Given the description of an element on the screen output the (x, y) to click on. 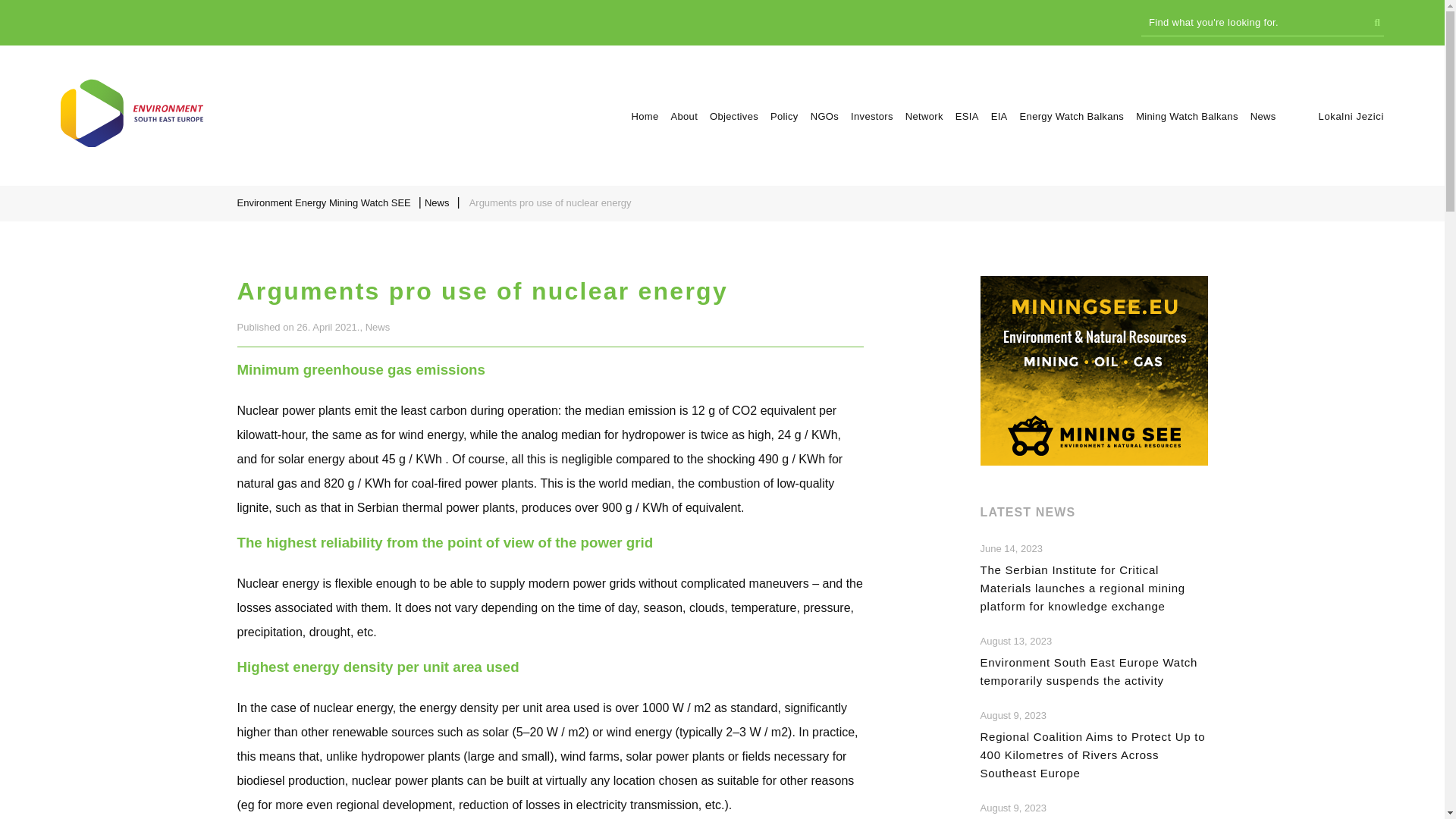
ESIA (966, 116)
Investors (871, 116)
Energy Watch Balkans (1072, 116)
News (1263, 116)
Go to the News category archives. (438, 202)
Arguments pro use of nuclear energy (132, 142)
News (438, 202)
Lokalni Jezici (1351, 116)
Objectives (734, 116)
Environmentsee Logo (132, 112)
